Given the description of an element on the screen output the (x, y) to click on. 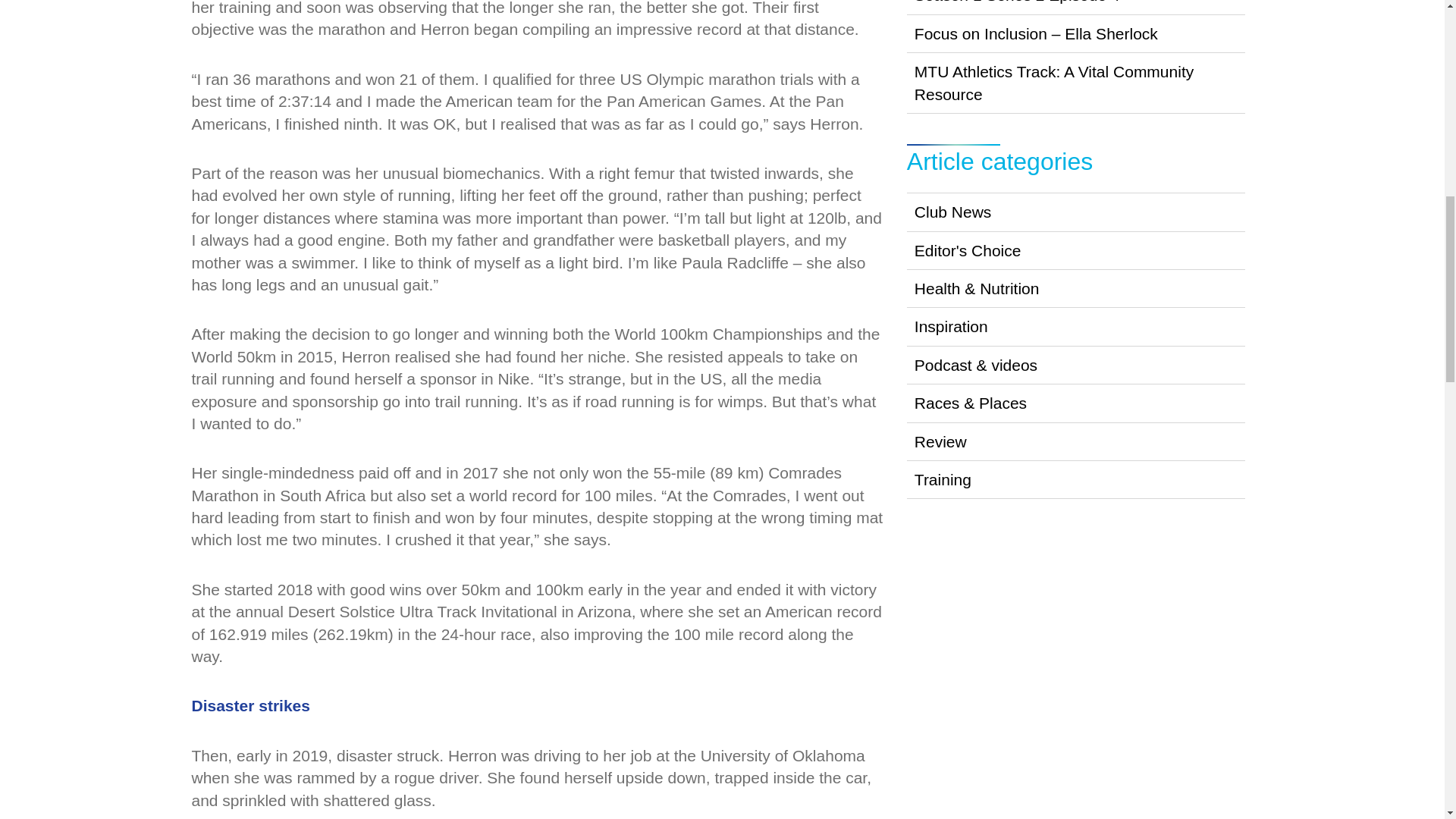
Inspiration (1076, 325)
Training (1076, 479)
Club News (1076, 211)
Review (1076, 441)
MTU Athletics Track: A Vital Community Resource (1076, 83)
Editor's Choice (1076, 250)
